Given the description of an element on the screen output the (x, y) to click on. 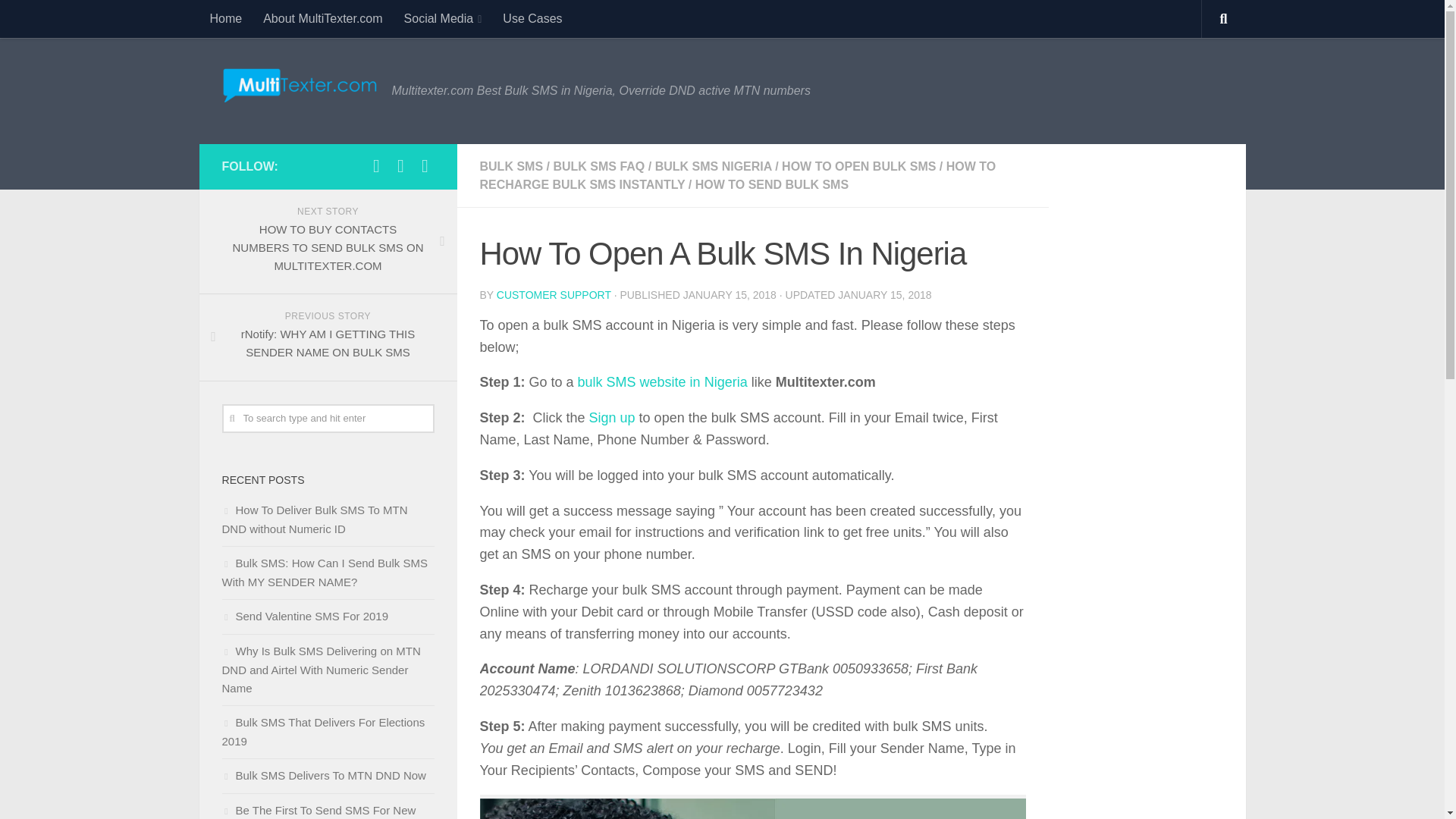
HOW TO RECHARGE BULK SMS INSTANTLY (737, 174)
Social Media (443, 18)
CUSTOMER SUPPORT (553, 295)
Posts by Customer Support (553, 295)
BULK SMS (511, 165)
About MultiTexter.com (322, 18)
Sign up (611, 417)
Home (224, 18)
To search type and hit enter (327, 418)
Use Cases (532, 18)
